Given the description of an element on the screen output the (x, y) to click on. 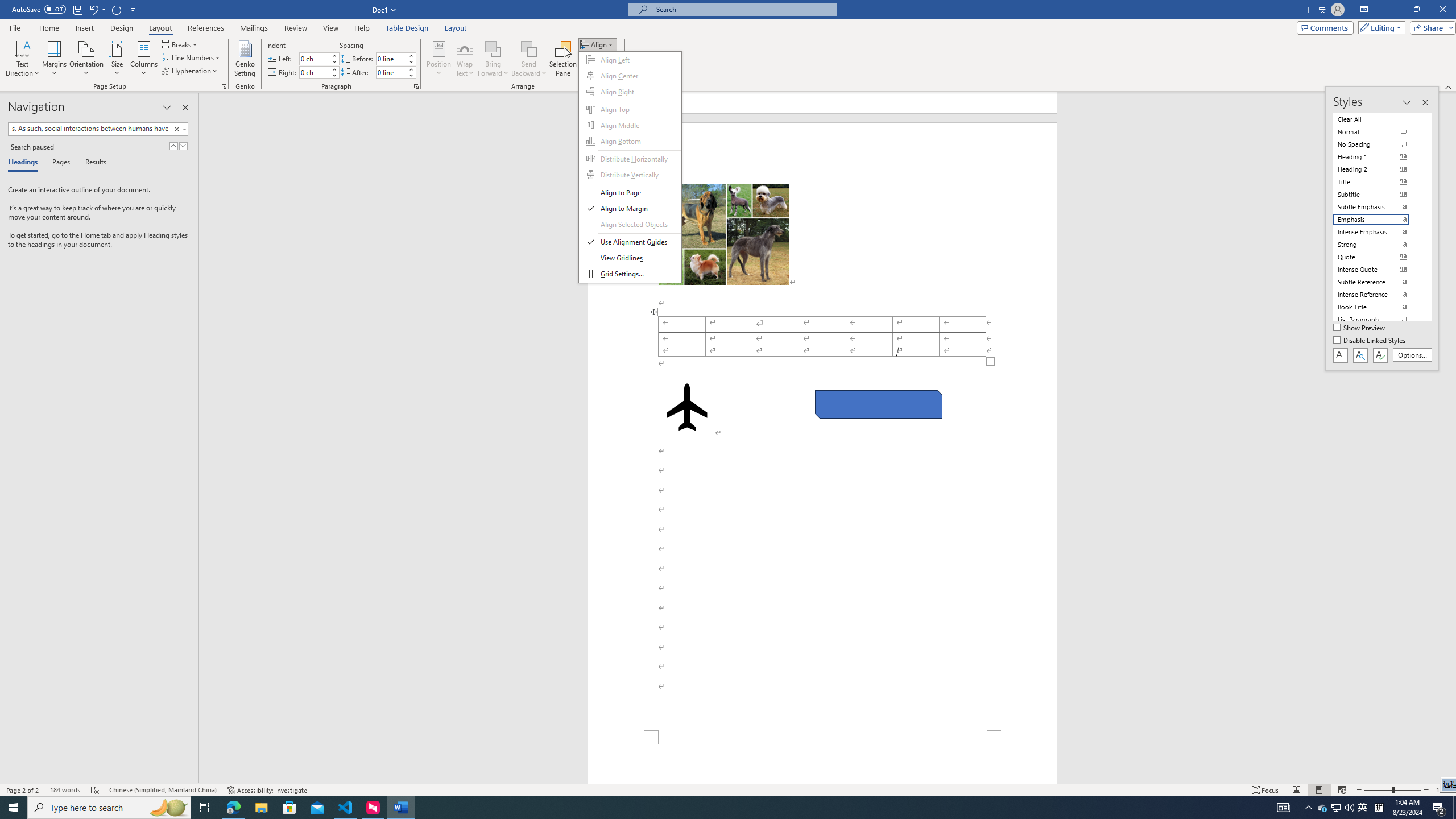
Tray Input Indicator - Chinese (Simplified, China) (1378, 807)
Margins (54, 58)
